Given the description of an element on the screen output the (x, y) to click on. 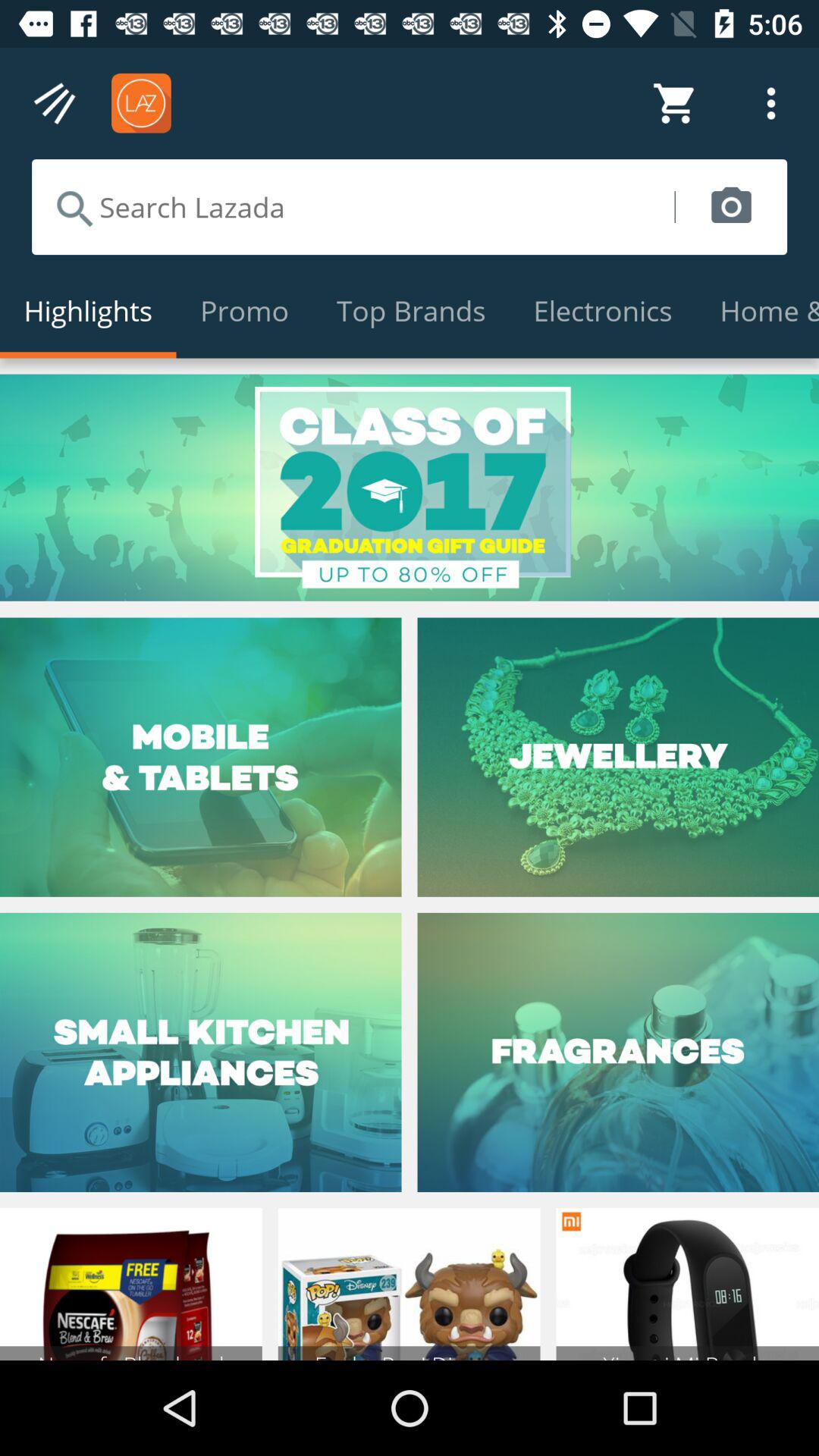
choose the icon below the highlights icon (409, 487)
